Given the description of an element on the screen output the (x, y) to click on. 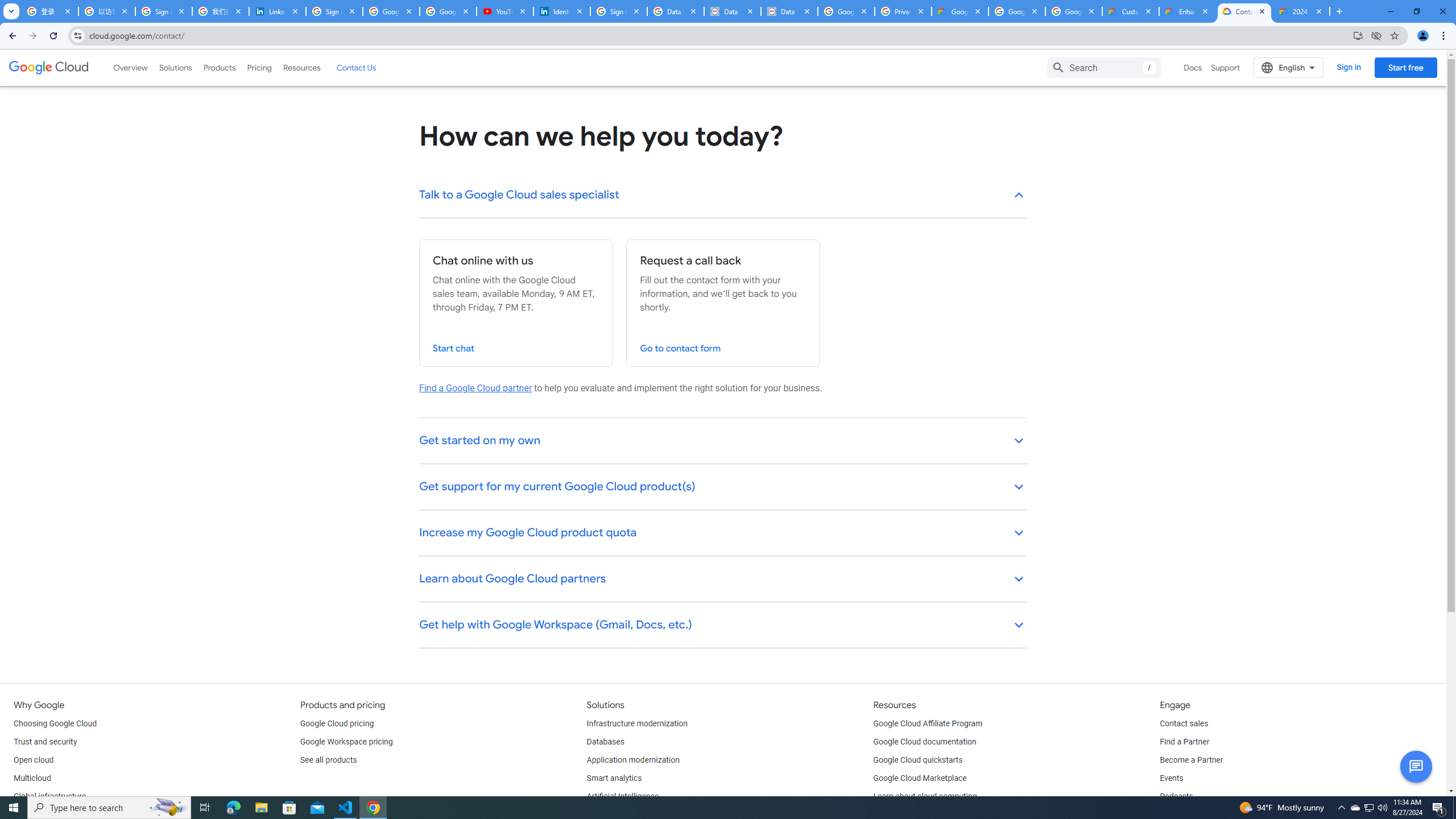
Open cloud (33, 760)
Become a Partner (1190, 760)
Sign in - Google Accounts (618, 11)
Sign in - Google Accounts (163, 11)
Google Workspace - Specific Terms (1073, 11)
Support (1225, 67)
Artificial Intelligence (622, 796)
